Given the description of an element on the screen output the (x, y) to click on. 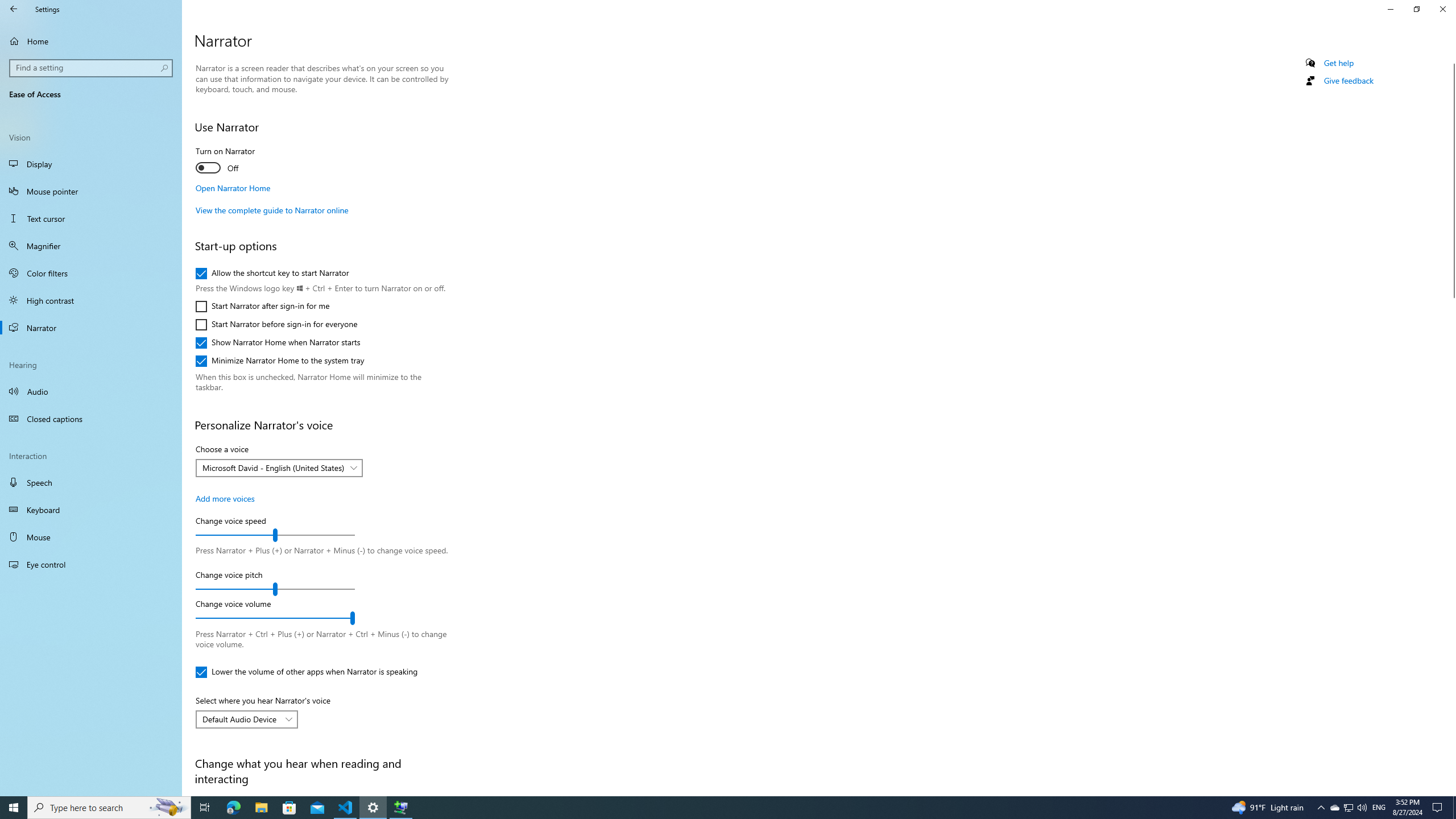
Tray Input Indicator - English (United States) (1378, 807)
Closed captions (91, 418)
Extensible Wizards Host Process - 1 running window (400, 807)
Show desktop (1454, 807)
Microsoft David - English (United States) (273, 467)
Task View (204, 807)
Change voice volume (275, 618)
Minimize Narrator Home to the system tray (279, 361)
Running applications (706, 807)
Start (13, 807)
Search highlights icon opens search home window (167, 807)
Default Audio Device (240, 719)
High contrast (91, 299)
Select where you hear Narrator's voice (246, 719)
